Given the description of an element on the screen output the (x, y) to click on. 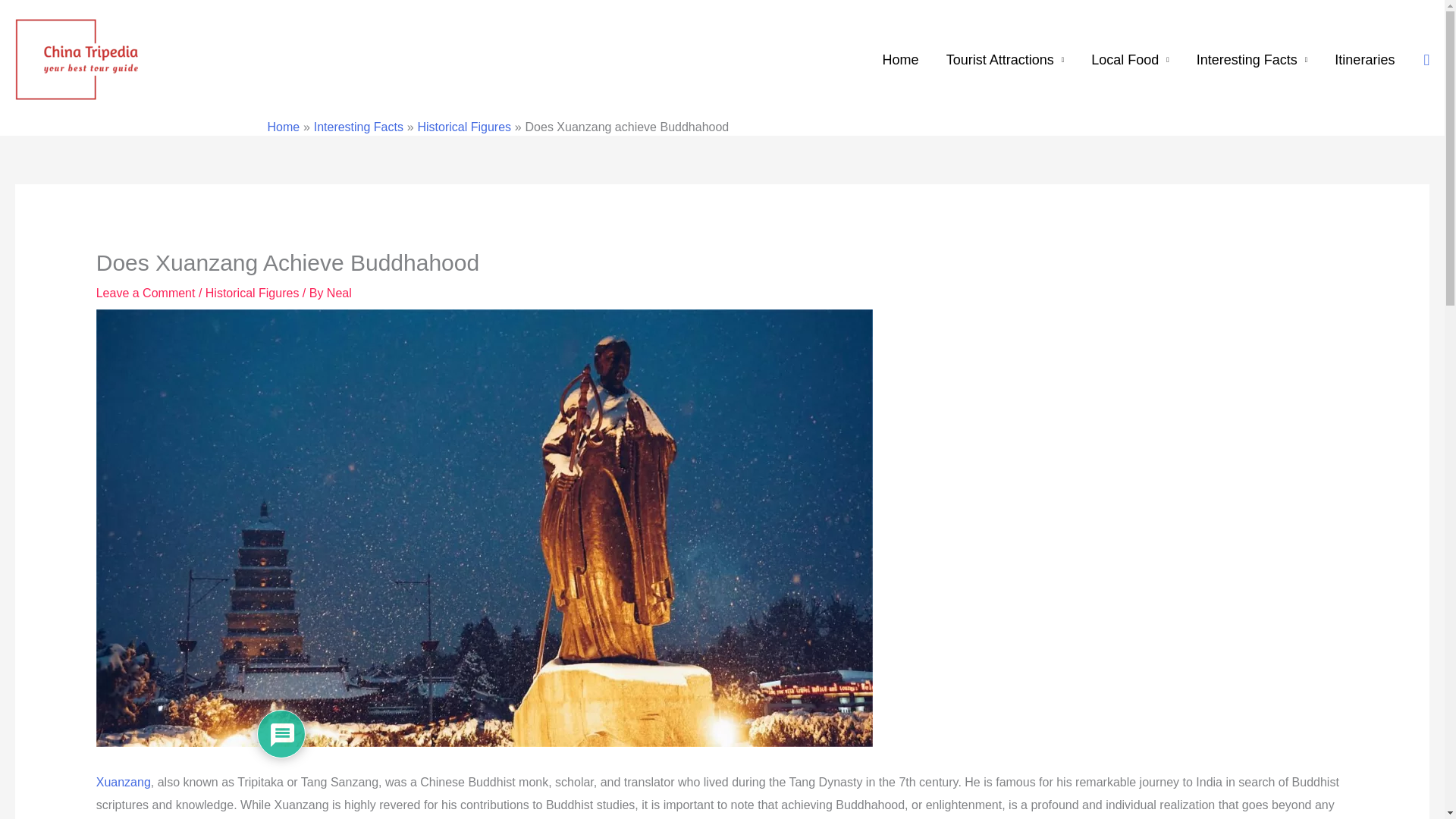
Tourist Attractions (1005, 59)
View all posts by Neal (339, 292)
Home (901, 59)
